Given the description of an element on the screen output the (x, y) to click on. 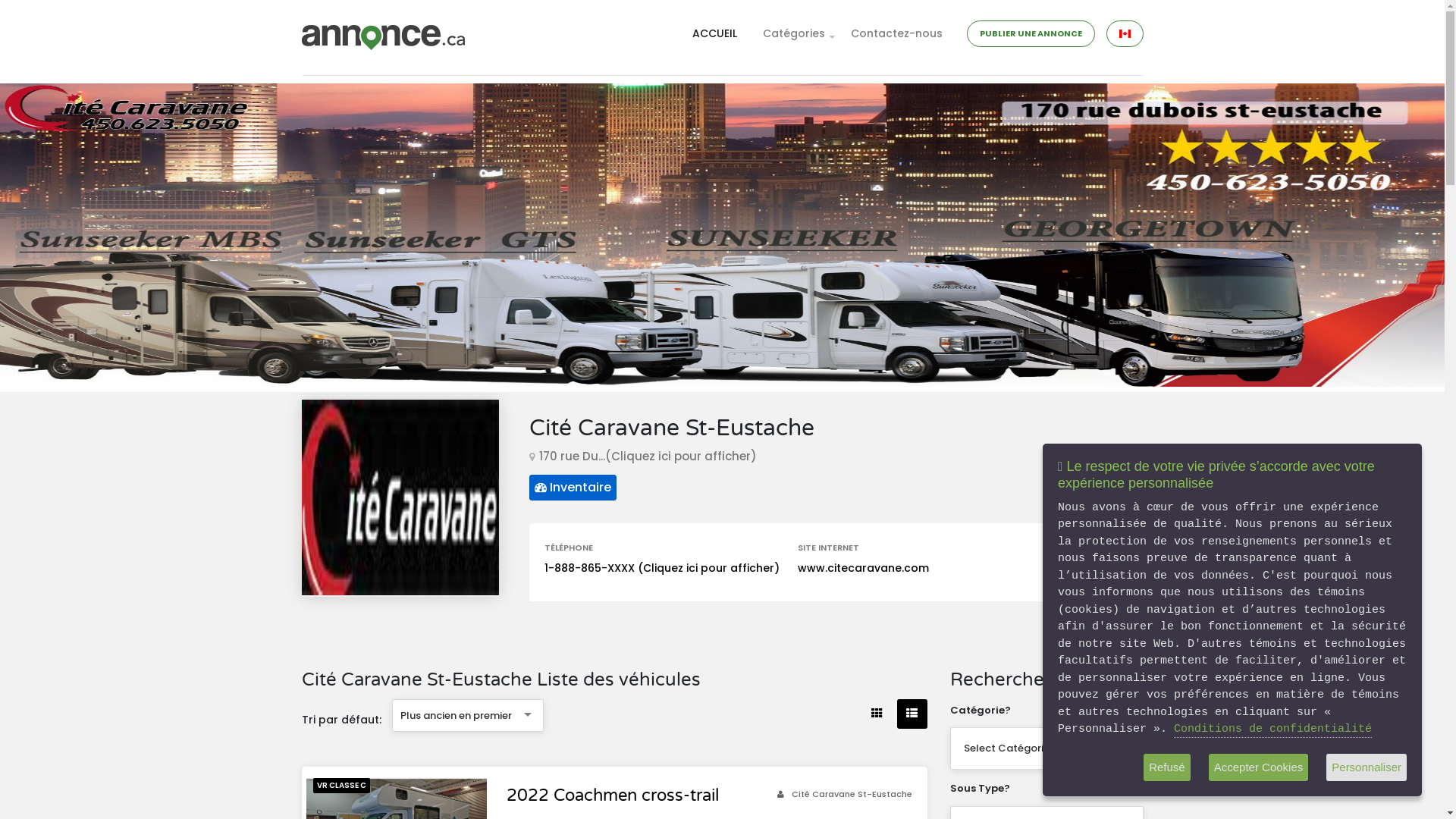
Aubaine.ca Element type: text (562, 632)
PUBLIER UNE ANNONCE Element type: text (1030, 33)
Conditions d'utilisation Element type: text (428, 718)
facebook.com/vehiculerecreatif Element type: text (985, 504)
Inventaire Element type: text (572, 487)
Accepter Cookies Element type: text (1258, 767)
www.citecaravane.com Element type: text (862, 567)
VTT Element type: text (671, 513)
Bateau Element type: text (681, 544)
Contactez-nous Element type: text (896, 33)
Nous joindre Element type: text (333, 718)
VR CLASSE C Element type: text (340, 785)
Annonce.ca Element type: text (336, 632)
ACCUEIL Element type: text (714, 33)
Trouvetonvr.com Element type: text (485, 650)
pretvr.com Element type: text (390, 650)
Motoneige Element type: text (690, 483)
Moto.ca Element type: text (325, 650)
CONTACTEZ-NOUS Element type: text (926, 554)
Vehicule-recreatif.com Element type: text (450, 632)
2022 Coachmen cross-trail Element type: text (612, 795)
Auto Element type: text (674, 604)
Moto Element type: text (675, 574)
info@annonce.ca Element type: text (945, 487)
1-888-865-XXXX (Cliquez ici pour afficher) Element type: text (661, 567)
Personnaliser Element type: text (1366, 767)
170 rue Du...(Cliquez ici pour afficher) Element type: text (647, 456)
